Given the description of an element on the screen output the (x, y) to click on. 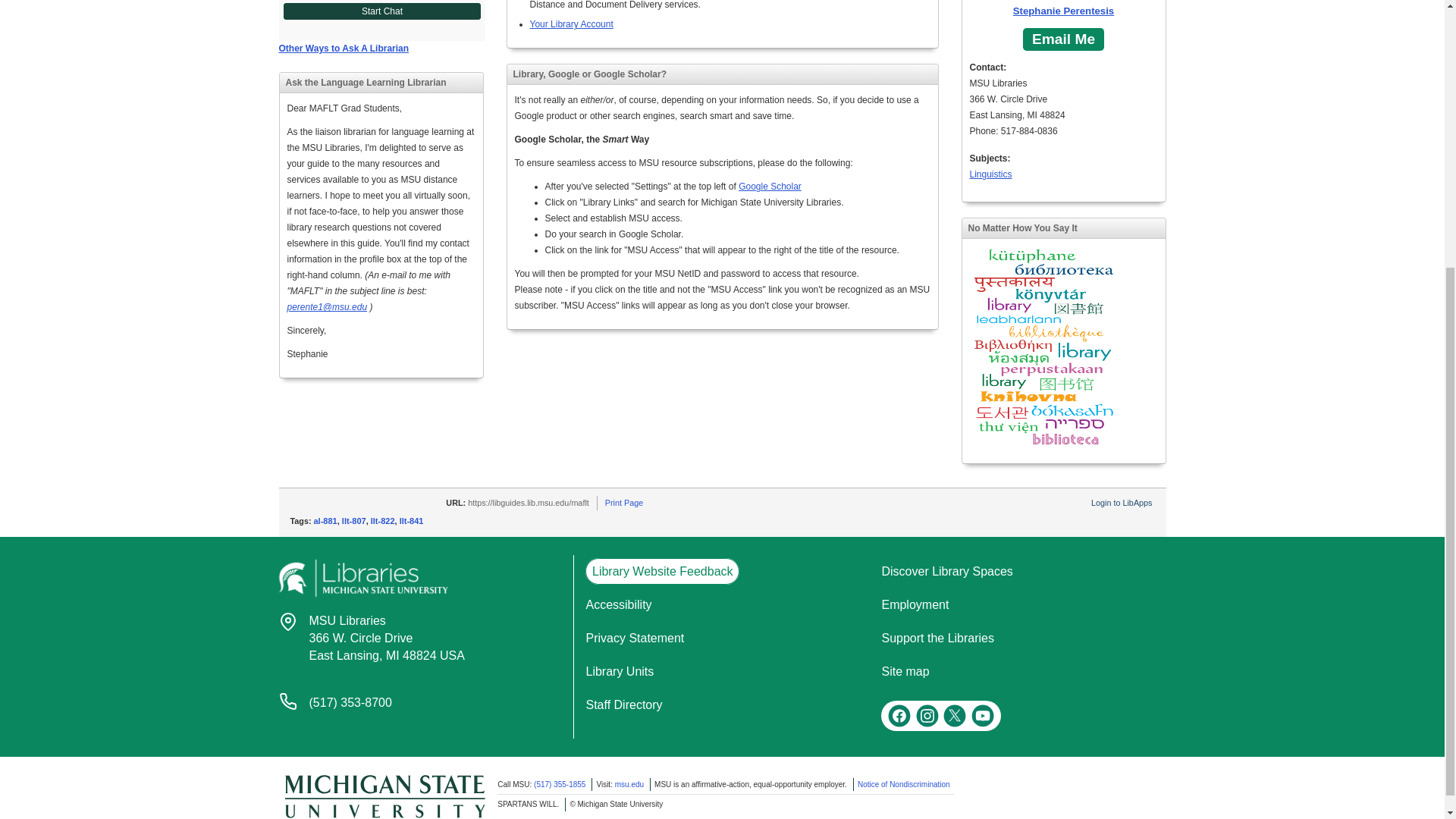
Privacy Statement (634, 637)
Login to LibApps (1120, 501)
Email Me (1063, 39)
Linguistics (386, 637)
Google Scholar (990, 173)
llt-822 (770, 185)
llt-841 (382, 520)
Stephanie Perentesis (410, 520)
Print Page (1063, 9)
al-881 (624, 501)
Library Website Feedback (325, 520)
Other Ways to Ask A Librarian (662, 570)
Library Units (344, 48)
Staff Directory (619, 671)
